Given the description of an element on the screen output the (x, y) to click on. 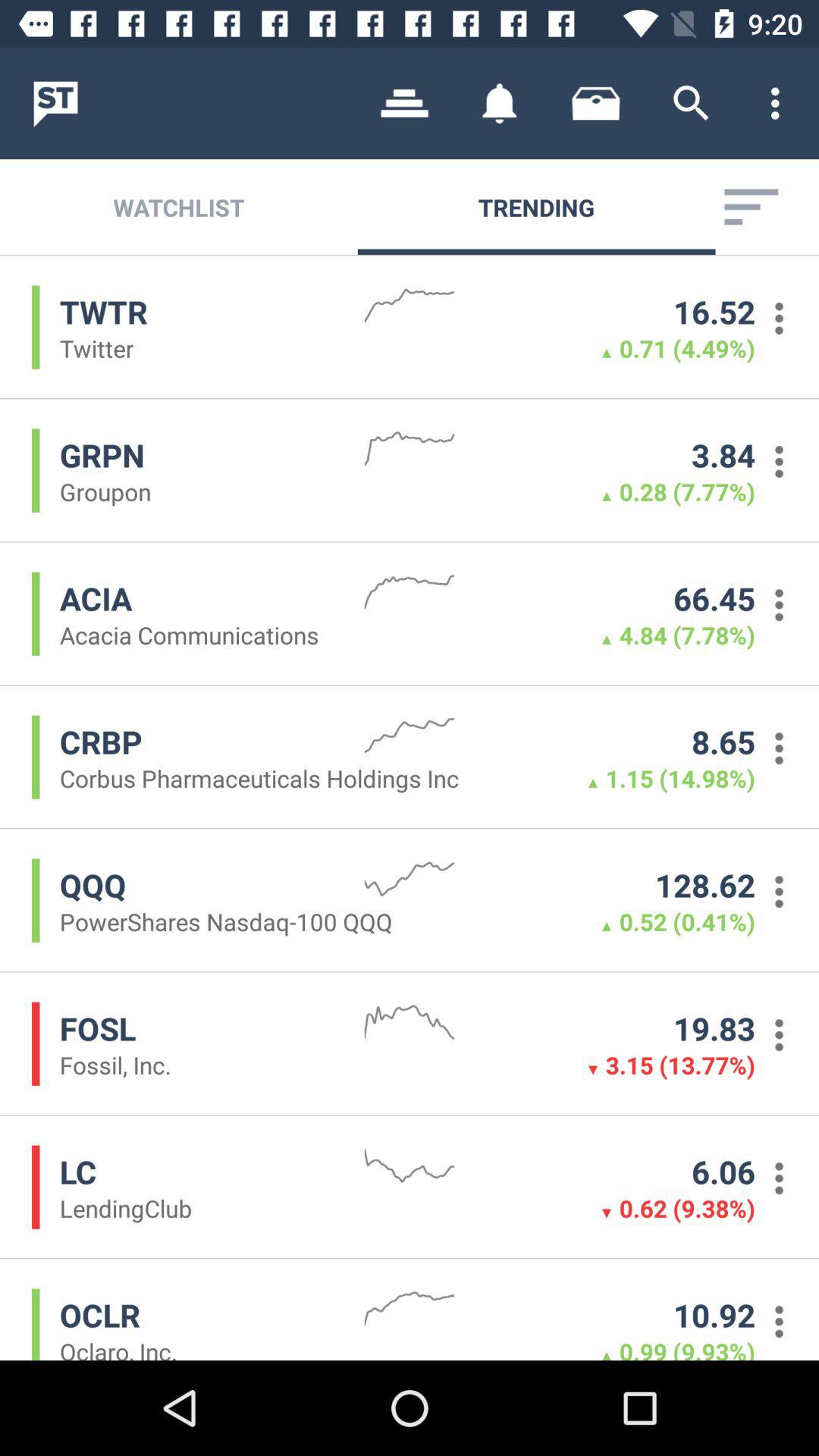
turn on app above trending icon (691, 103)
